Given the description of an element on the screen output the (x, y) to click on. 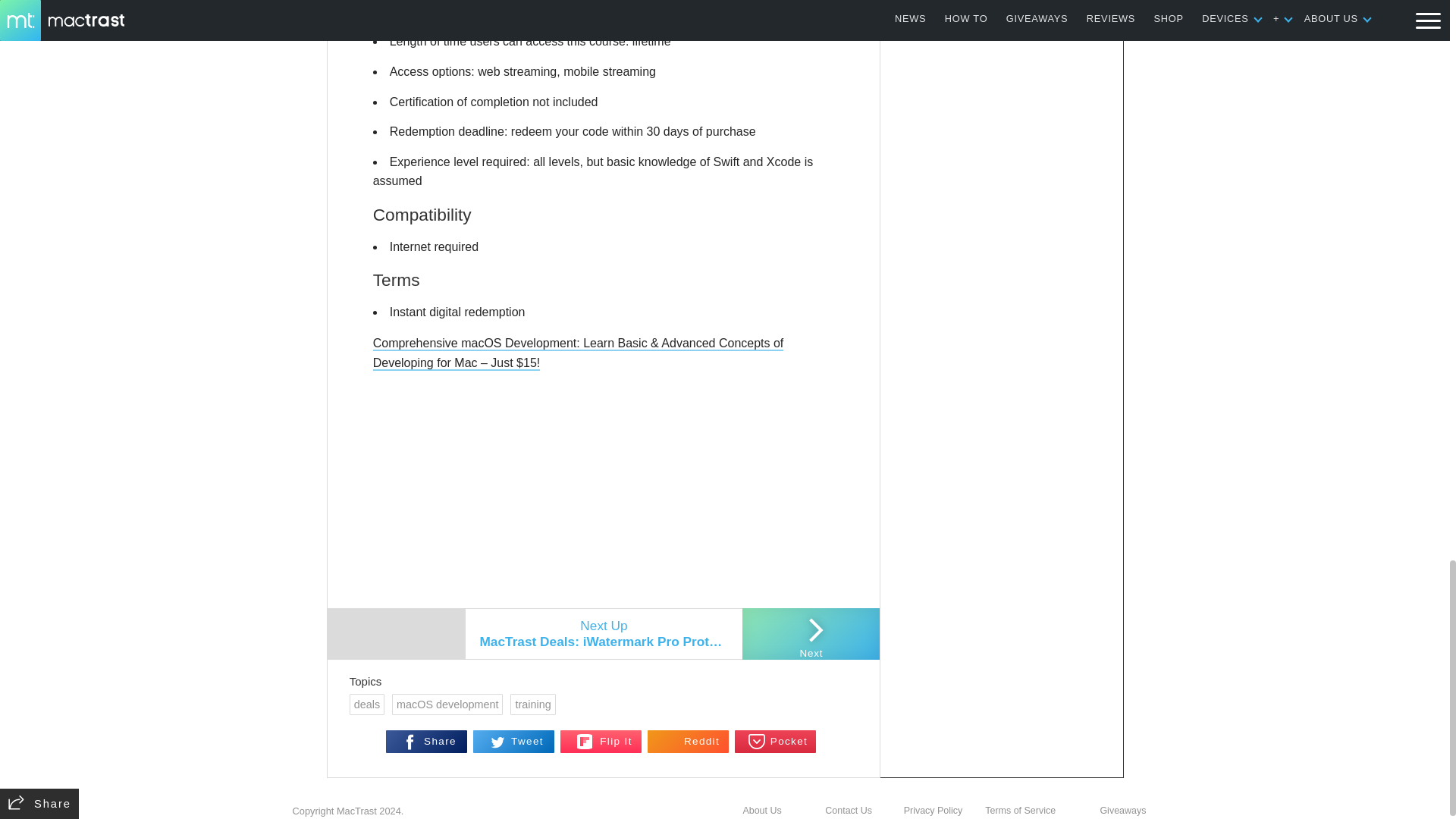
Share on Reddit (688, 741)
Tweet (513, 741)
Share on Facebook (426, 741)
